Given the description of an element on the screen output the (x, y) to click on. 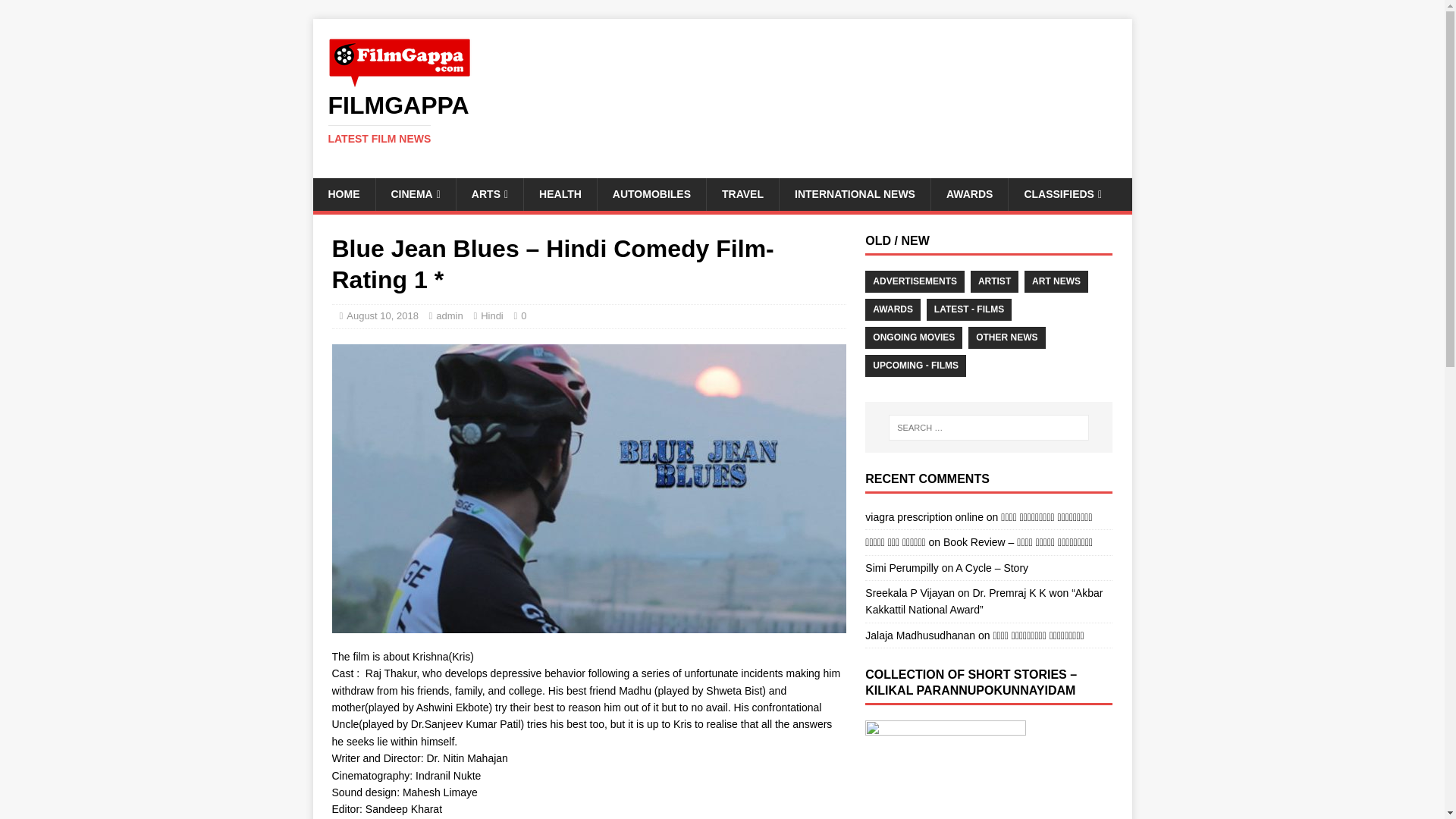
HOME (343, 193)
blue jean (721, 118)
CINEMA (721, 118)
